Given the description of an element on the screen output the (x, y) to click on. 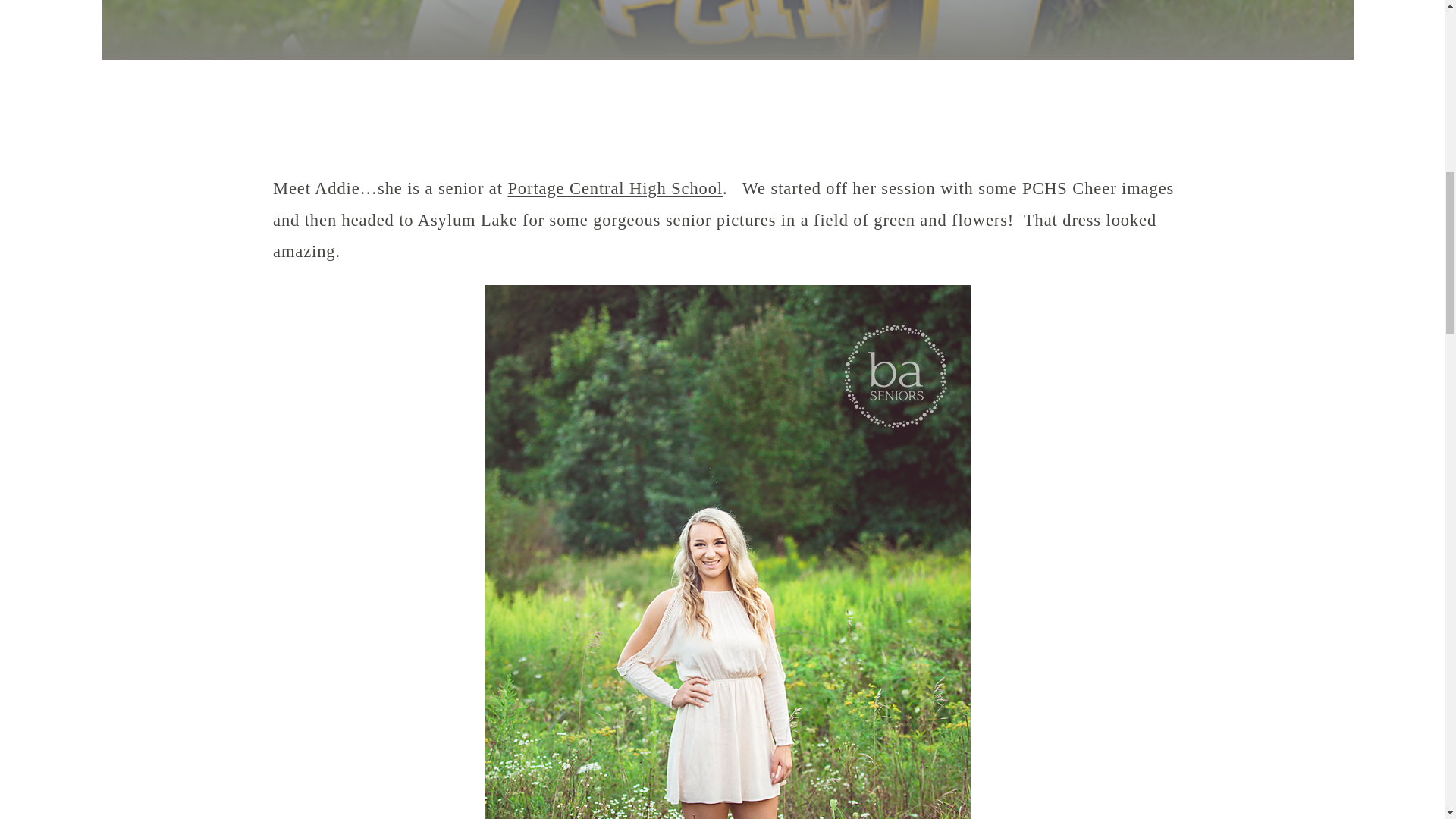
Portage Central High School (614, 188)
